Given the description of an element on the screen output the (x, y) to click on. 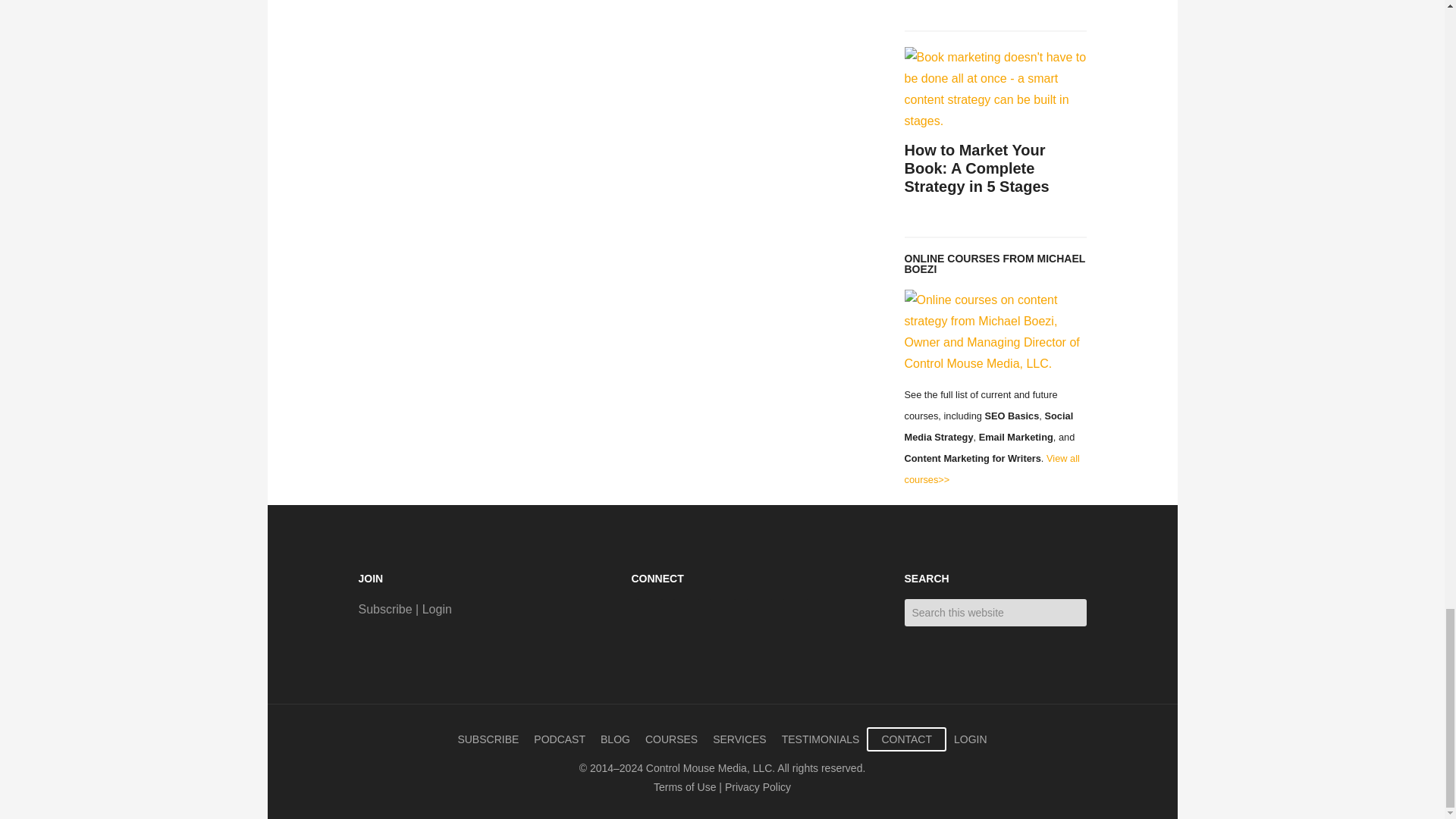
Search (1097, 605)
Search (1097, 605)
